Given the description of an element on the screen output the (x, y) to click on. 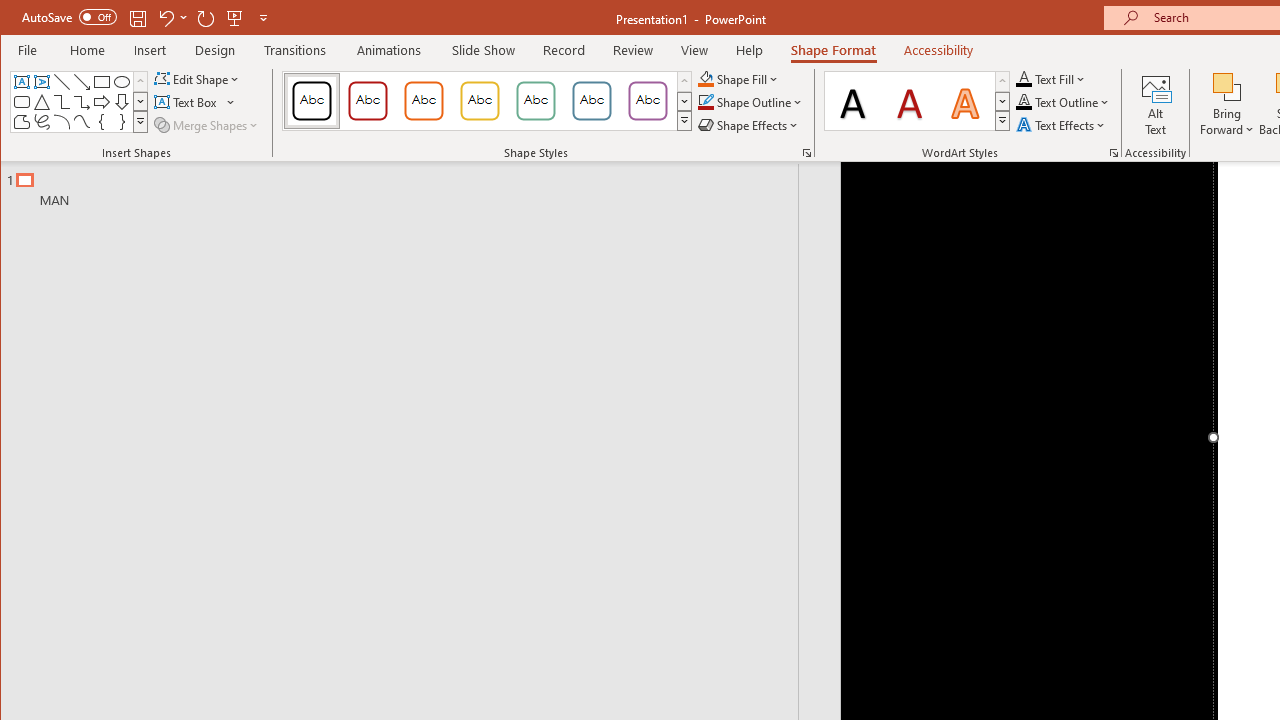
Colored Outline - Black, Dark 1 (312, 100)
Text Fill (1051, 78)
Text Outline (1062, 101)
